Given the description of an element on the screen output the (x, y) to click on. 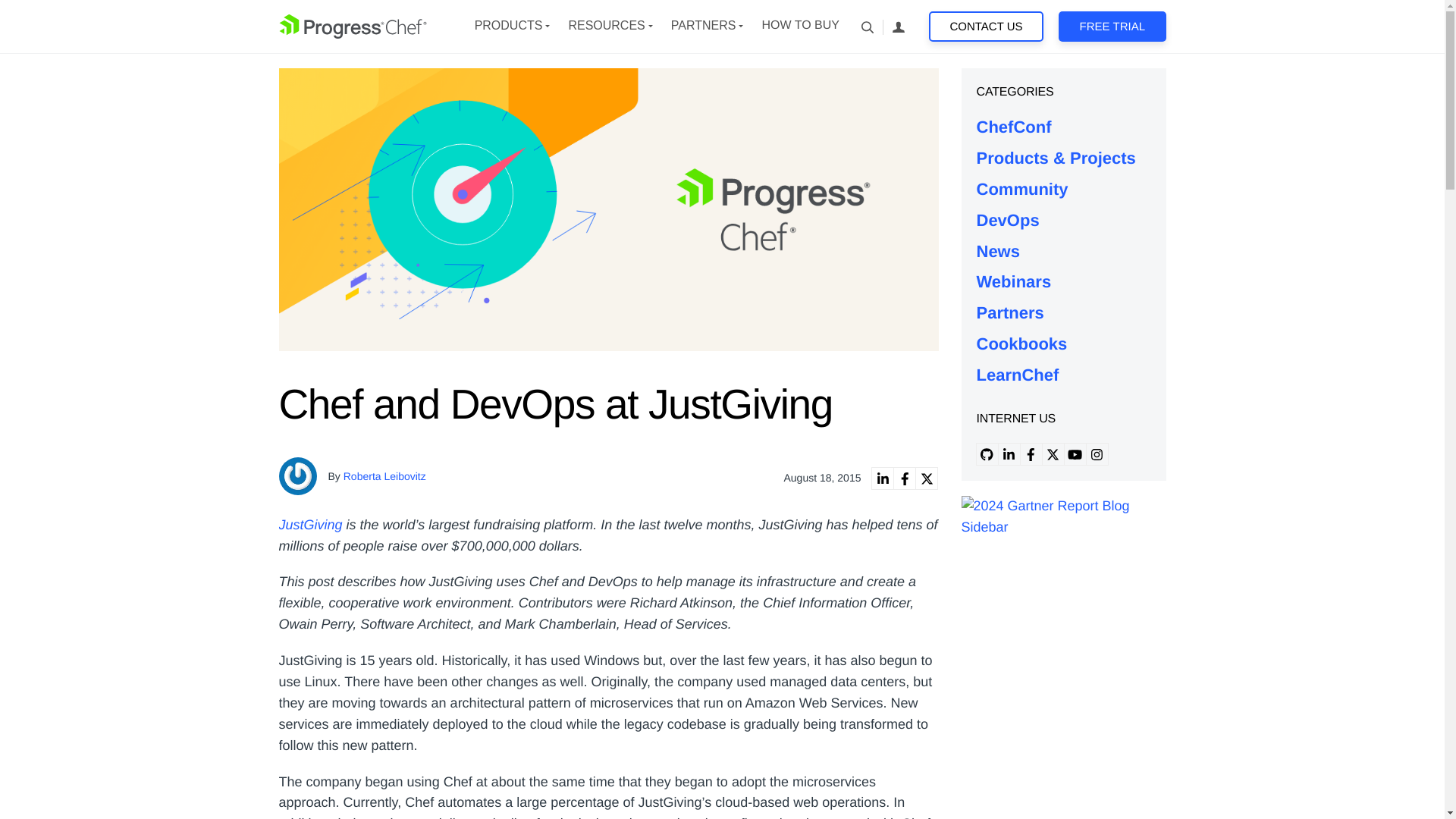
PARTNERS (703, 25)
SKIP NAVIGATION (352, 26)
RESOURCES (606, 25)
Roberta Leibovitz (384, 476)
PRODUCTS (508, 25)
Avatar (298, 476)
HOW TO BUY (799, 25)
CONTACT US (985, 26)
